Given the description of an element on the screen output the (x, y) to click on. 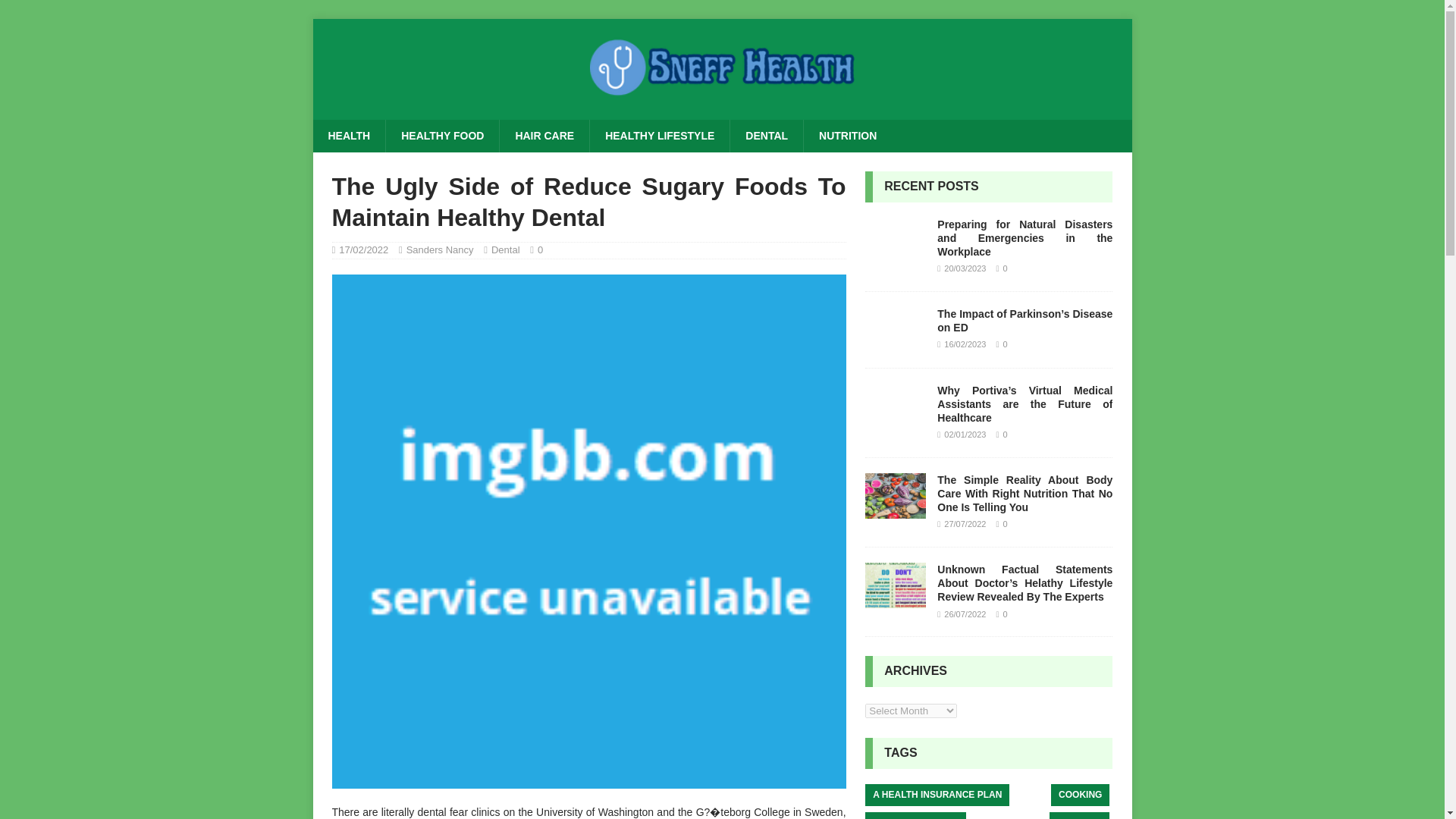
HEALTH (349, 135)
DENTAL (766, 135)
HAIR CARE (544, 135)
COOKING (1080, 794)
Sanders Nancy (440, 249)
Dental (505, 249)
DOCTORS (1079, 815)
HEALTHY LIFESTYLE (659, 135)
HEALTHY FOOD (442, 135)
A HEALTH INSURANCE PLAN (936, 794)
NUTRITION (847, 135)
